Given the description of an element on the screen output the (x, y) to click on. 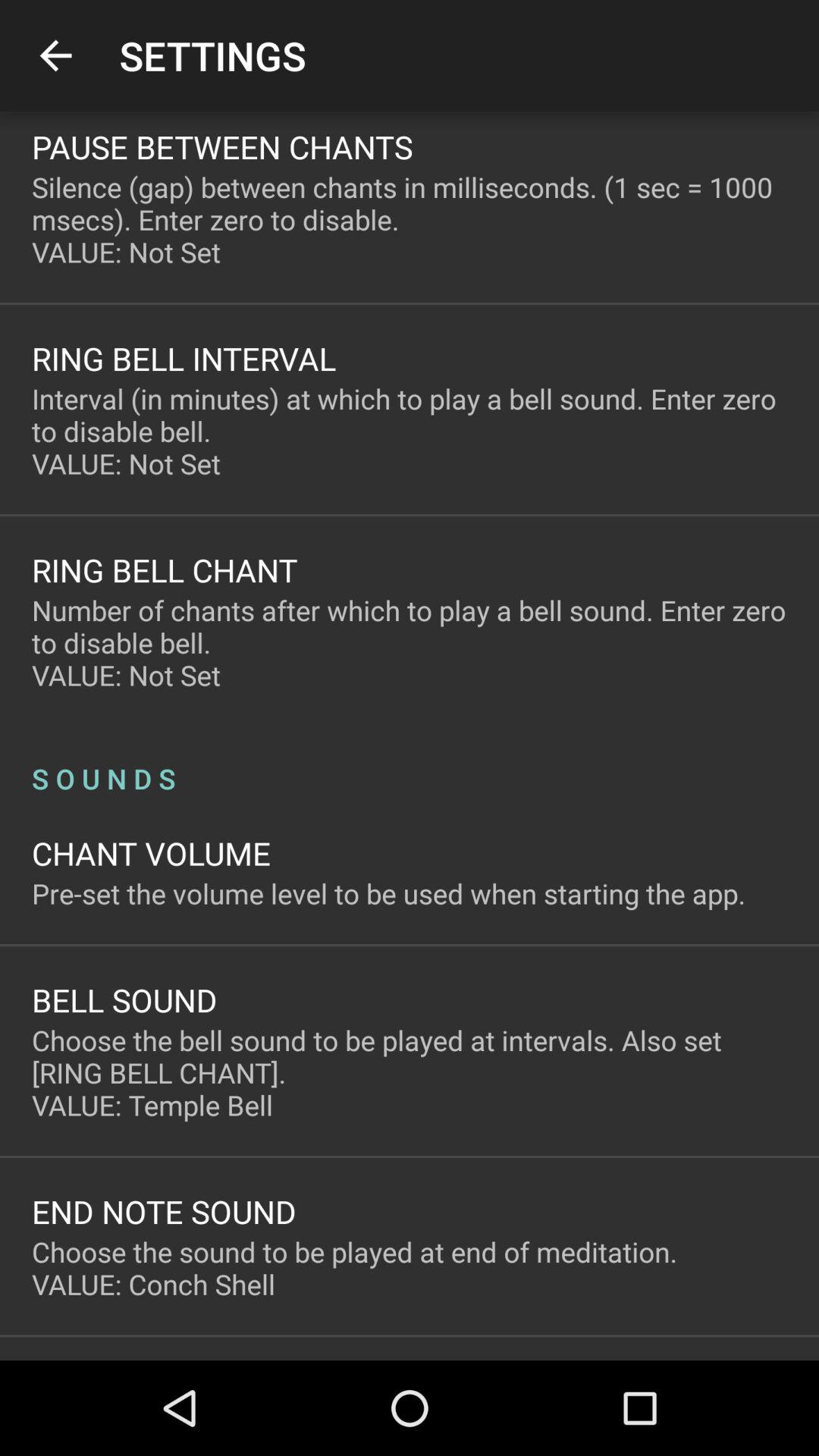
open the item next to the settings (55, 55)
